Given the description of an element on the screen output the (x, y) to click on. 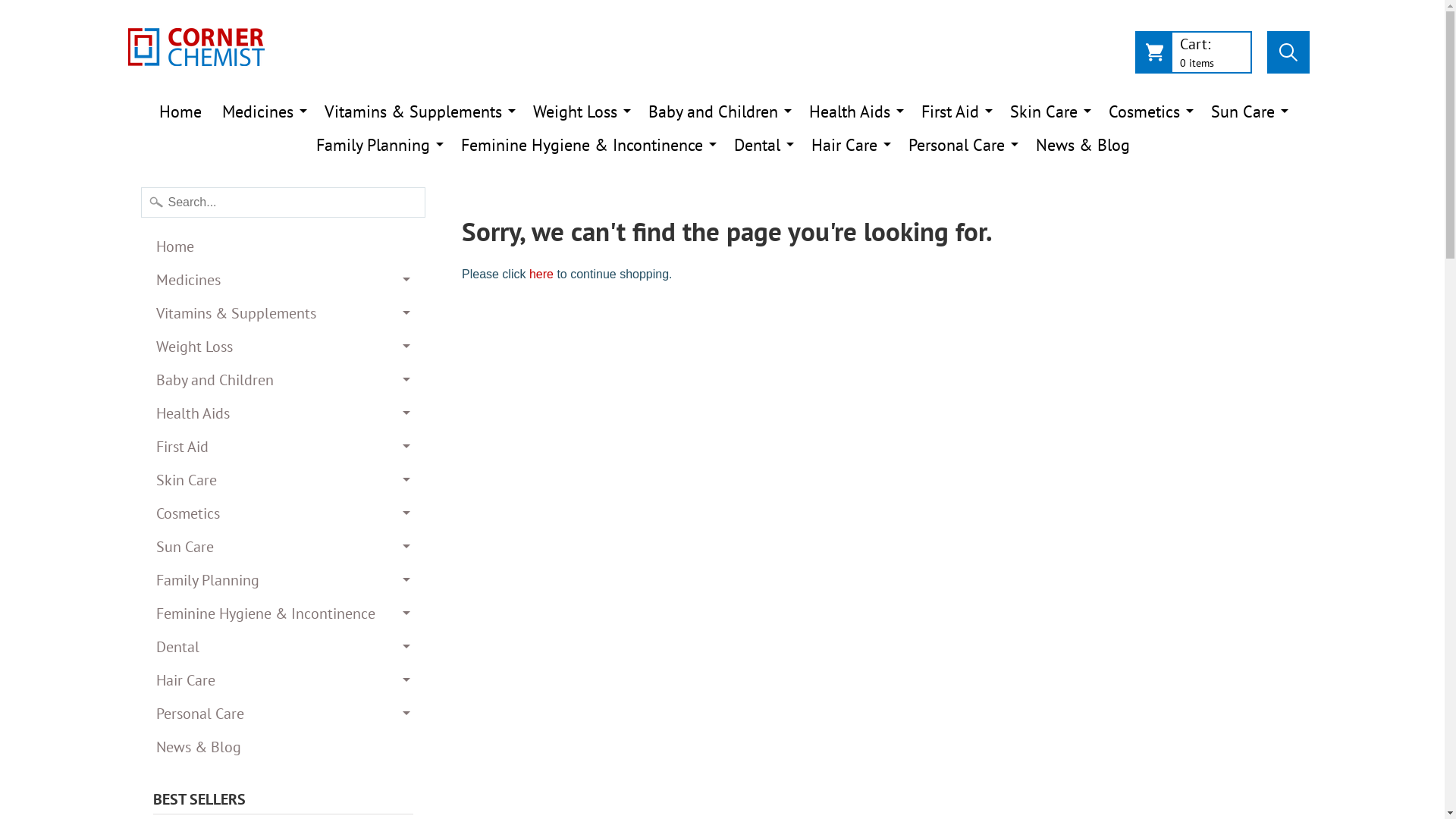
Weight Loss Element type: text (283, 346)
Sun Care Element type: text (283, 546)
Personal Care Element type: text (960, 144)
Cosmetics Element type: text (283, 513)
News & Blog Element type: text (1081, 144)
Skin Care Element type: text (1048, 111)
Feminine Hygiene & Incontinence Element type: text (586, 144)
Home Element type: text (180, 111)
First Aid Element type: text (283, 446)
Cart:
0 items Element type: text (1192, 56)
Family Planning Element type: text (283, 579)
Vitamins & Supplements Element type: text (418, 111)
Hair Care Element type: text (283, 679)
Sun Care Element type: text (1247, 111)
Personal Care Element type: text (283, 713)
Skin Care Element type: text (283, 479)
Health Aids Element type: text (854, 111)
Baby and Children Element type: text (283, 379)
Weight Loss Element type: text (580, 111)
Dental Element type: text (283, 646)
Health Aids Element type: text (283, 412)
Hair Care Element type: text (848, 144)
Cosmetics Element type: text (1149, 111)
Feminine Hygiene & Incontinence Element type: text (283, 613)
Vitamins & Supplements Element type: text (283, 312)
Corner Chemist Element type: hover (195, 46)
Medicines Element type: text (283, 279)
News & Blog Element type: text (283, 746)
Dental Element type: text (761, 144)
Baby and Children Element type: text (718, 111)
Medicines Element type: text (262, 111)
Home Element type: text (283, 246)
here Element type: text (541, 273)
First Aid Element type: text (955, 111)
Family Planning Element type: text (377, 144)
